Given the description of an element on the screen output the (x, y) to click on. 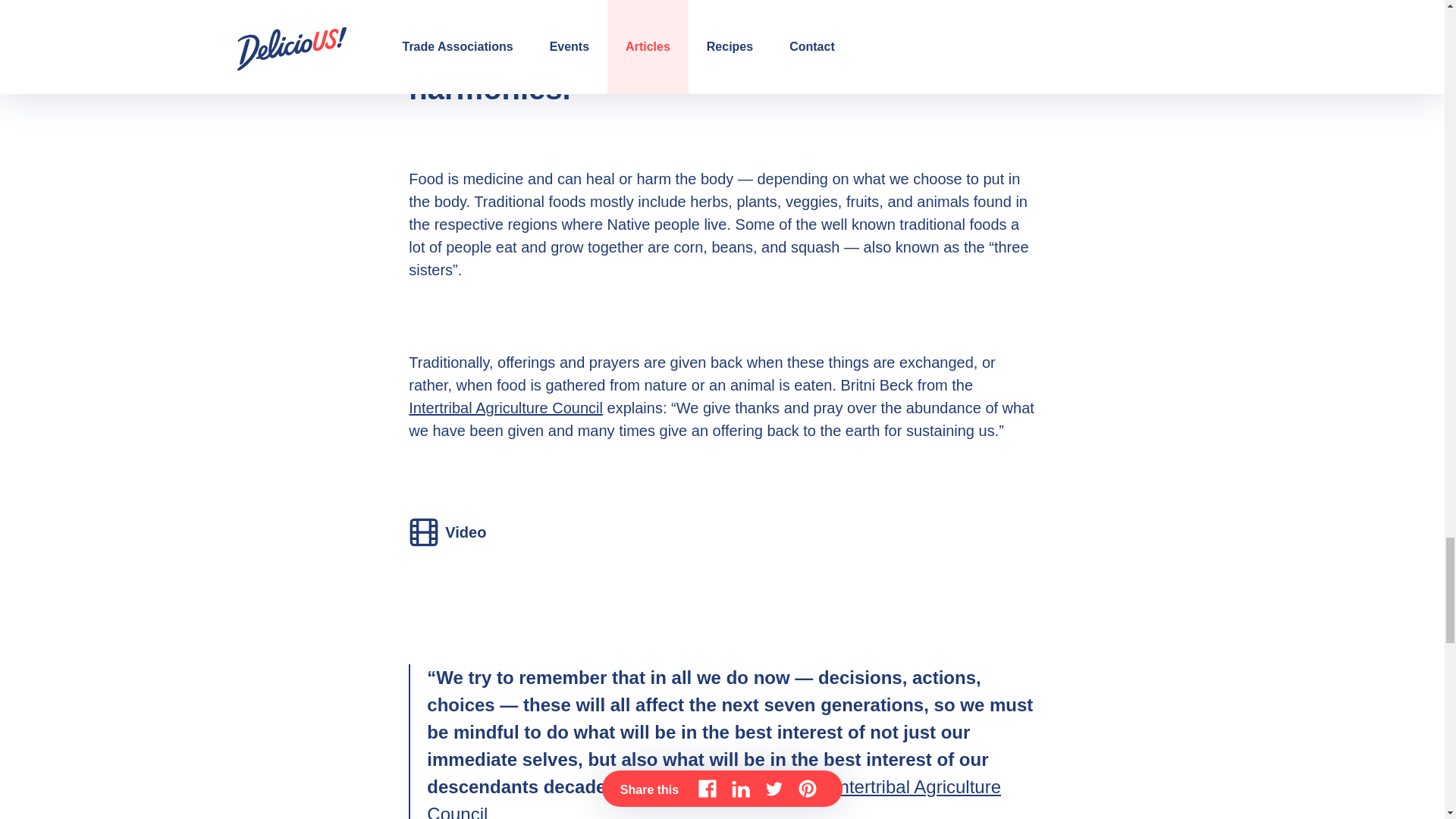
Intertribal Agriculture Council (505, 407)
Intertribal Agriculture Council (713, 797)
